Given the description of an element on the screen output the (x, y) to click on. 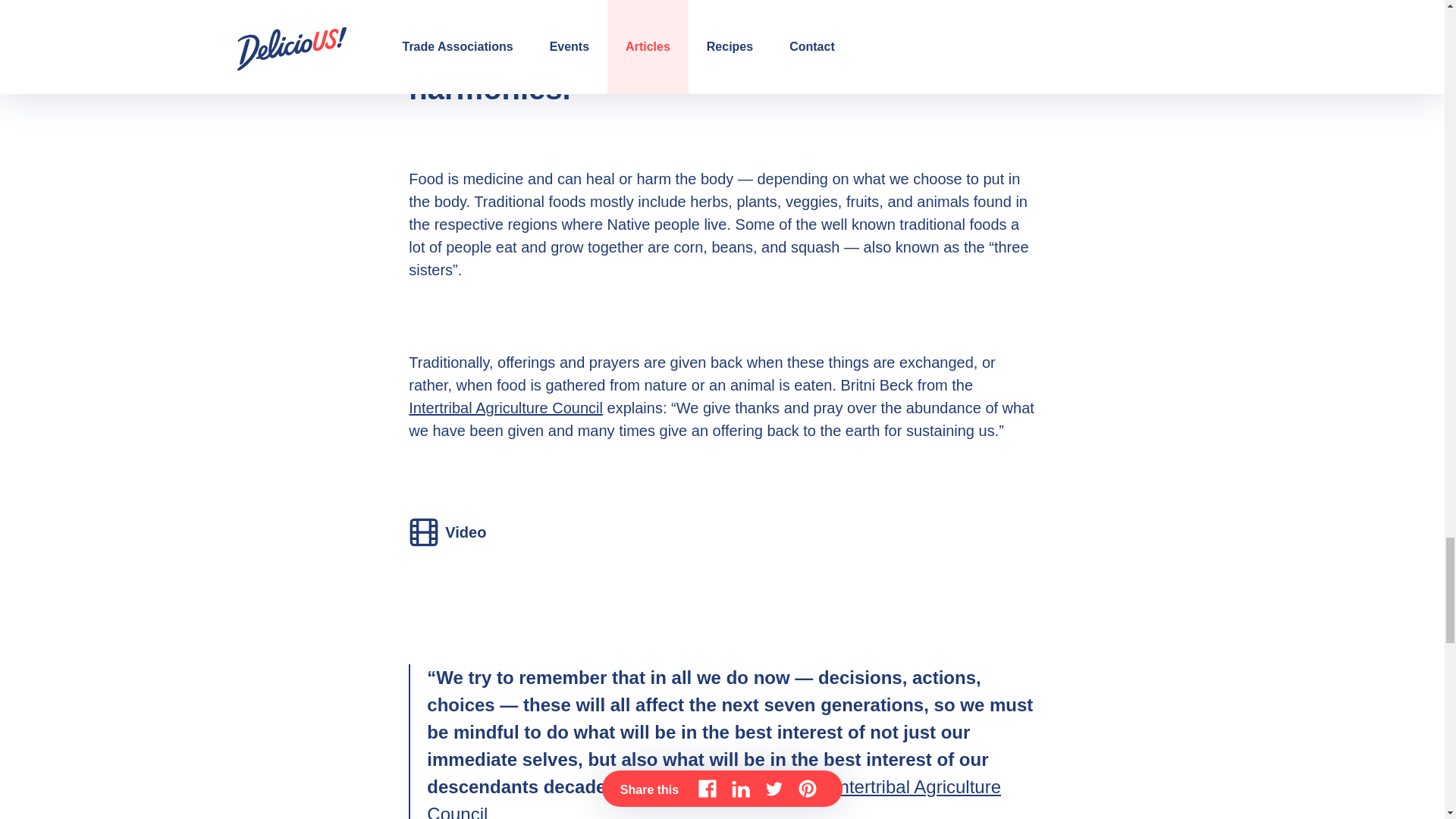
Intertribal Agriculture Council (505, 407)
Intertribal Agriculture Council (713, 797)
